Given the description of an element on the screen output the (x, y) to click on. 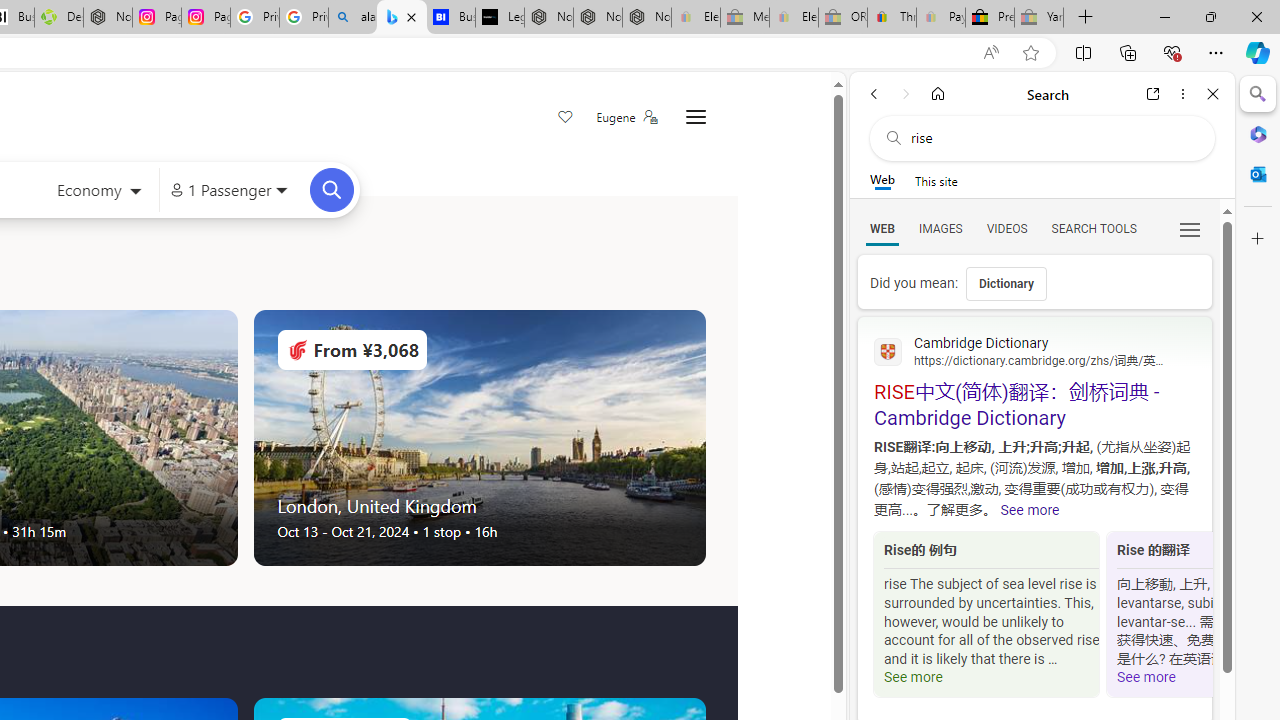
Payments Terms of Use | eBay.com - Sleeping (940, 17)
1 Passenger (228, 189)
